Given the description of an element on the screen output the (x, y) to click on. 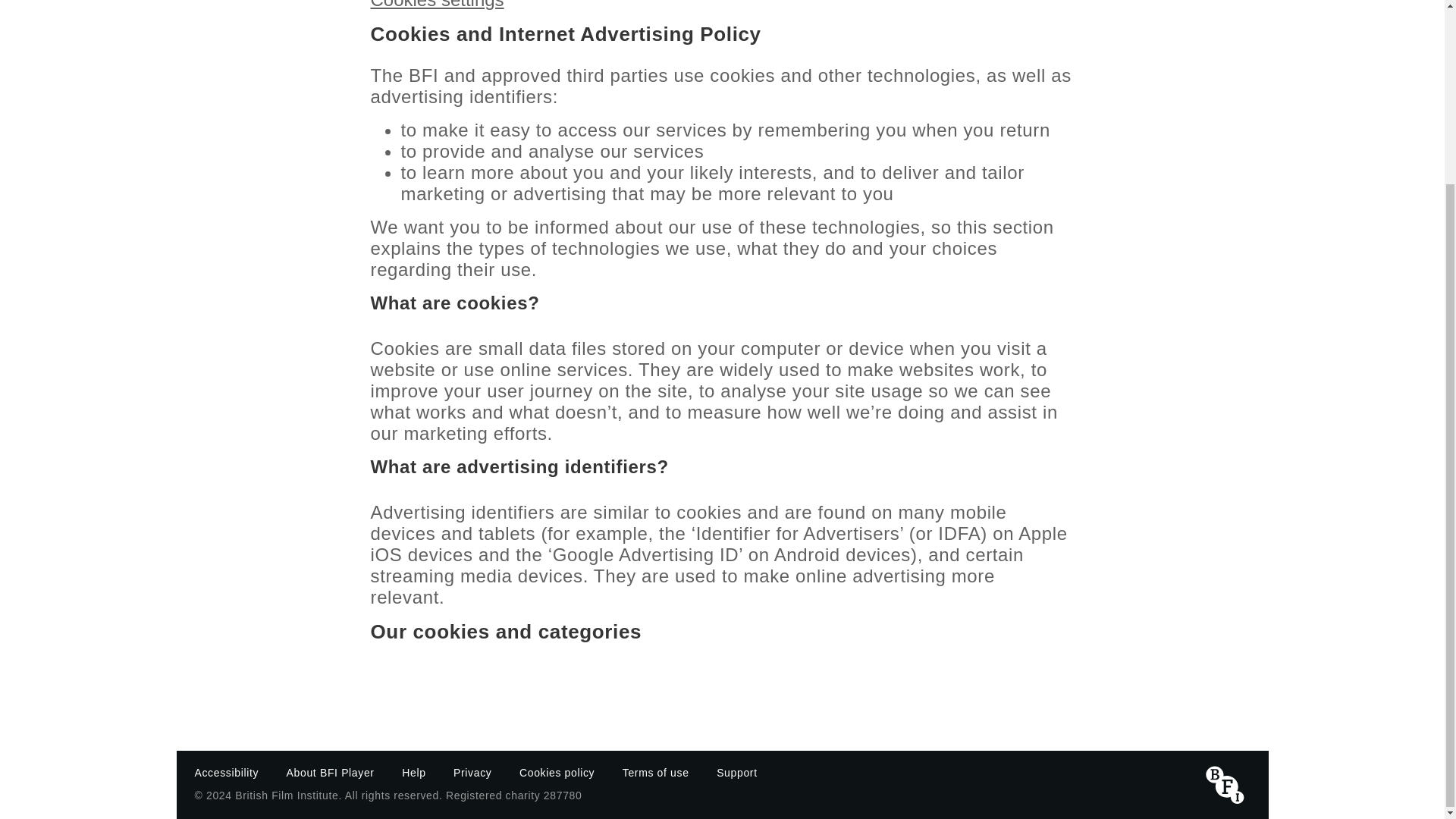
Help (414, 772)
Cookies settings (436, 3)
BFI (1224, 784)
Cookies policy (556, 772)
Privacy (472, 772)
About BFI Player (331, 772)
Support (737, 772)
Privacy policy (472, 772)
Terms of use (655, 772)
Accessibility (226, 772)
Cookie settings (436, 3)
